Given the description of an element on the screen output the (x, y) to click on. 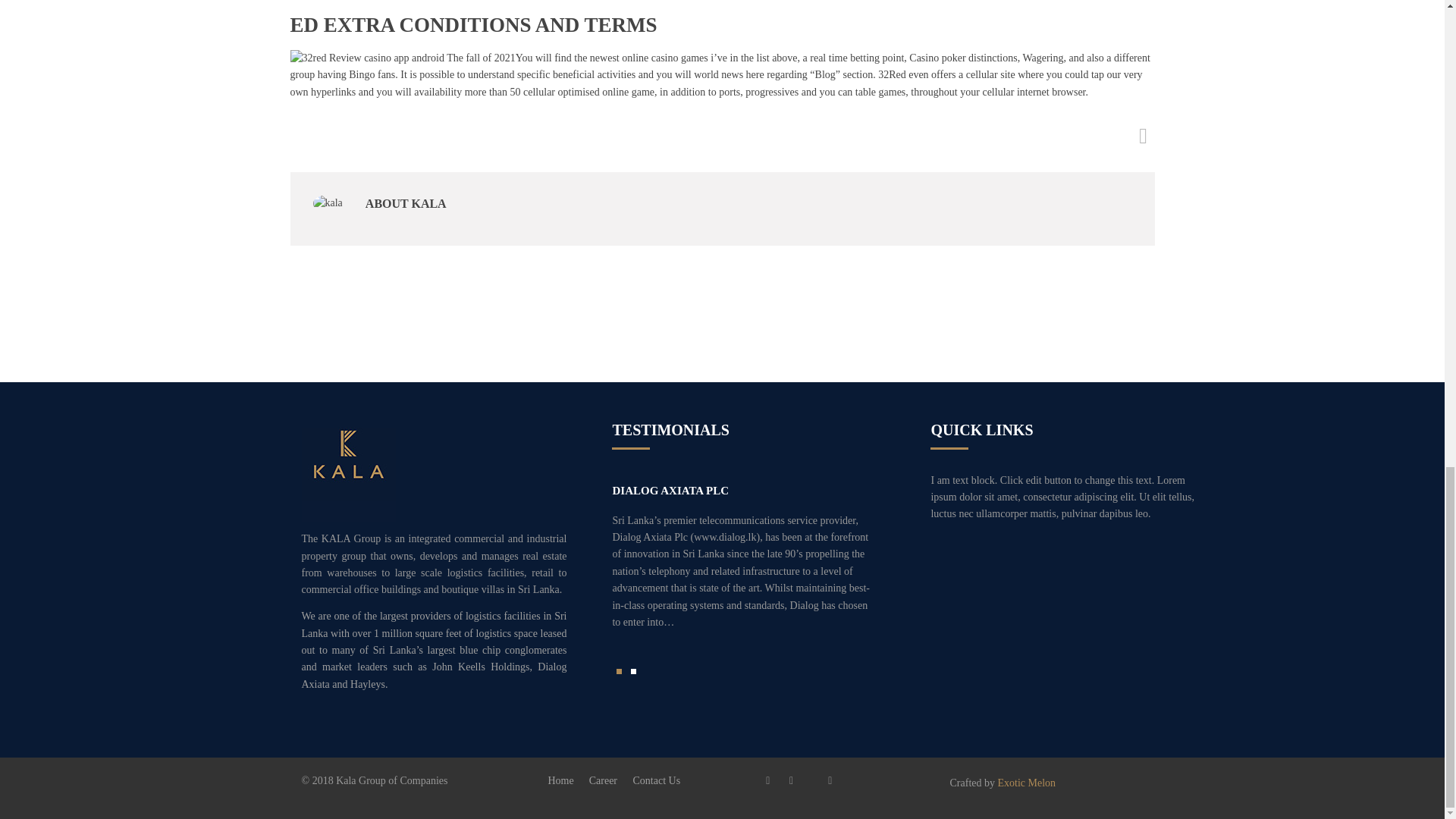
DIALOG AXIATA PLC (670, 490)
